Given the description of an element on the screen output the (x, y) to click on. 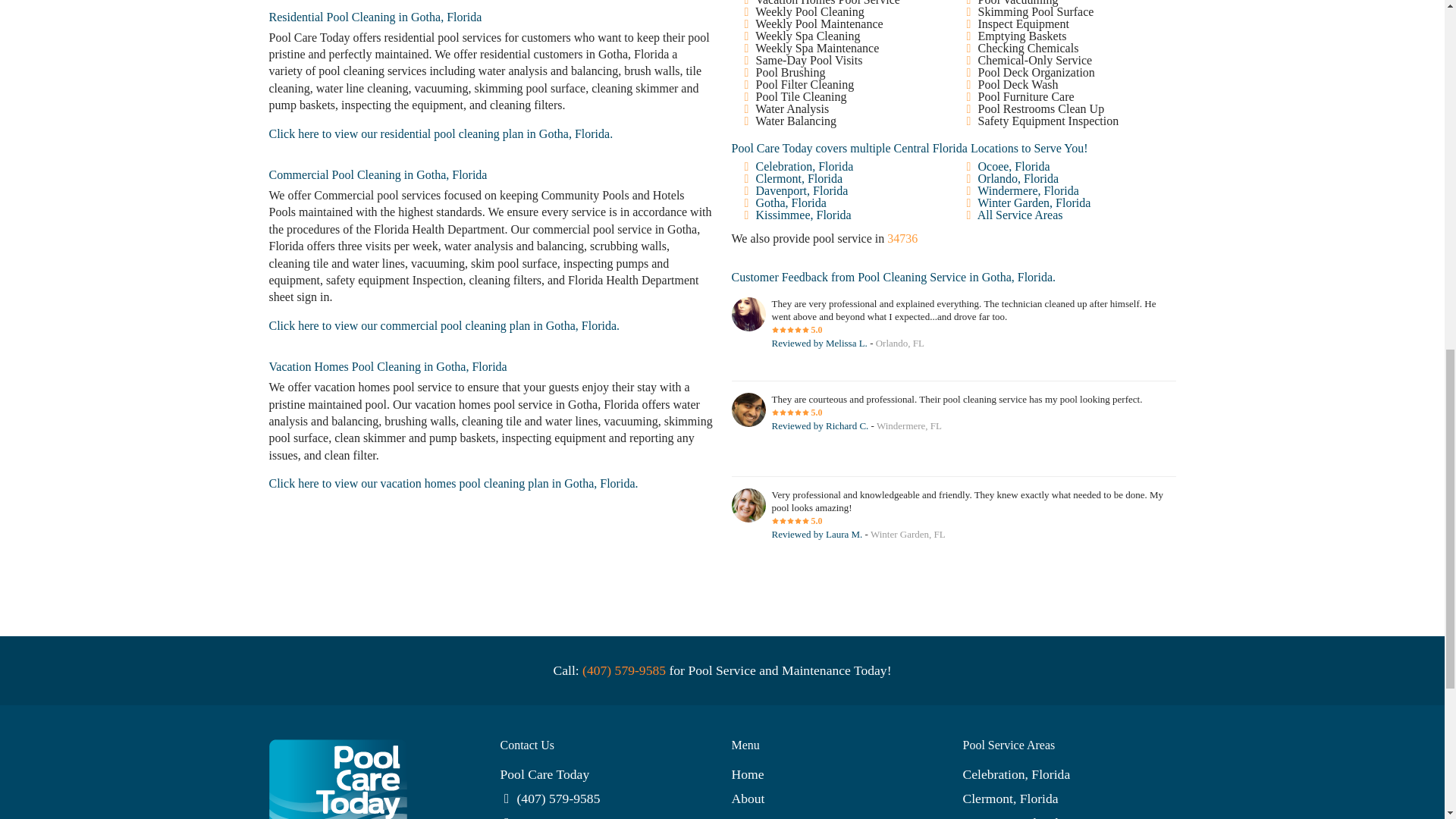
Kissimmee, Florida (802, 214)
Clermont, Florida (799, 178)
Winter Garden, Florida (1033, 202)
Windermere, Florida (1027, 190)
Davenport, Florida (801, 190)
All Service Areas (1019, 214)
Orlando, Florida (1018, 178)
